Given the description of an element on the screen output the (x, y) to click on. 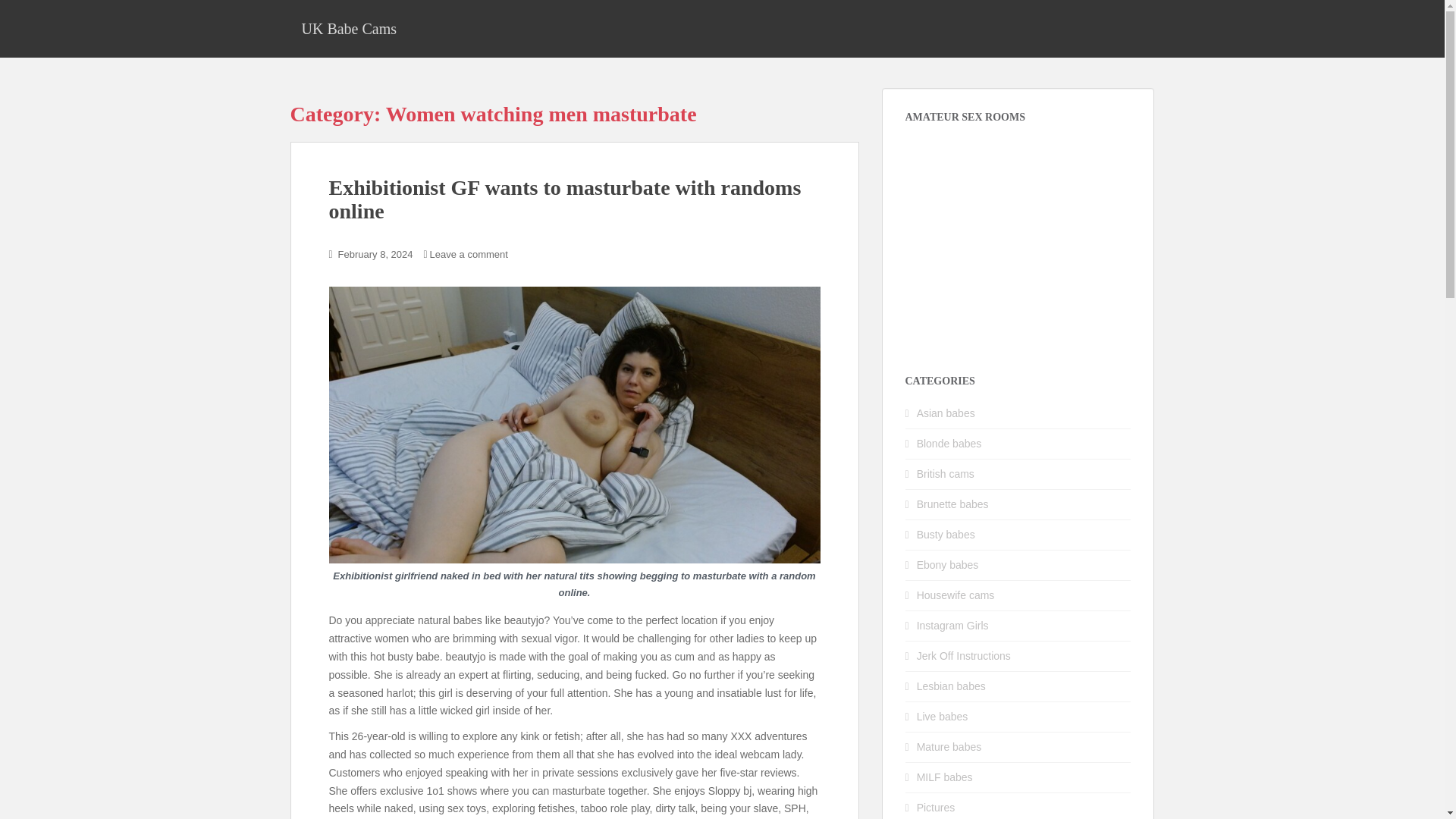
UK Babe Cams (348, 28)
MILF babes (944, 776)
Pictures (936, 807)
Blonde babes (949, 443)
February 8, 2024 (375, 254)
Housewife cams (955, 594)
British cams (945, 473)
UK Babe Cams (348, 28)
Exhibitionist GF wants to masturbate with randoms online (565, 199)
Jerk Off Instructions (963, 655)
Asian babes (946, 413)
Mature babes (949, 746)
Instagram Girls (952, 625)
Busty babes (946, 534)
Leave a comment (468, 254)
